Given the description of an element on the screen output the (x, y) to click on. 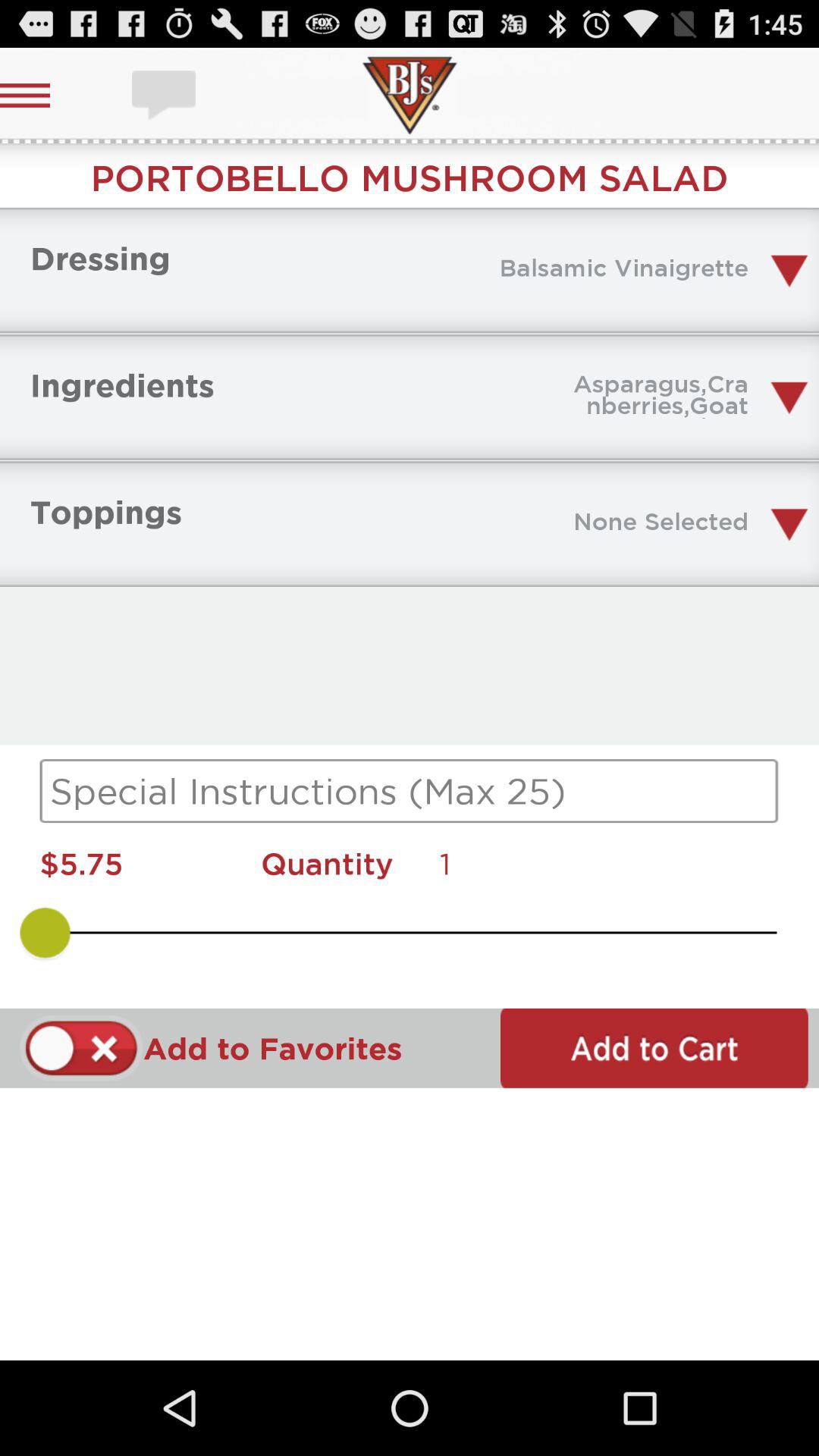
toggle favorite status (81, 1048)
